Given the description of an element on the screen output the (x, y) to click on. 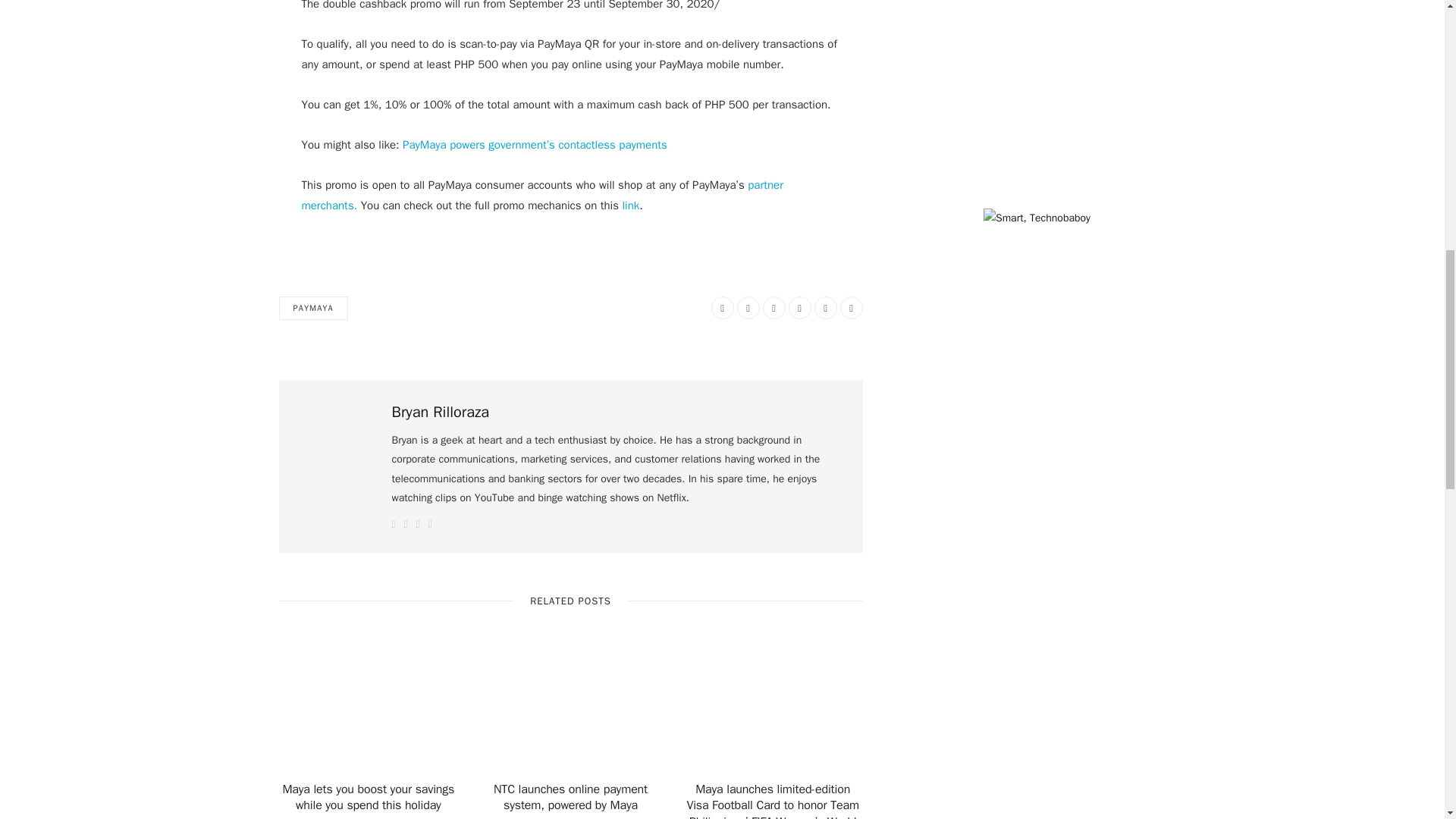
Twitter (748, 307)
Email (851, 307)
link (630, 205)
PAYMAYA (313, 308)
Bryan Rilloraza (440, 412)
NTC launches online payment system, powered by Maya (570, 798)
Facebook (722, 307)
partner merchants. (542, 195)
Posts by Bryan Rilloraza (440, 412)
